Given the description of an element on the screen output the (x, y) to click on. 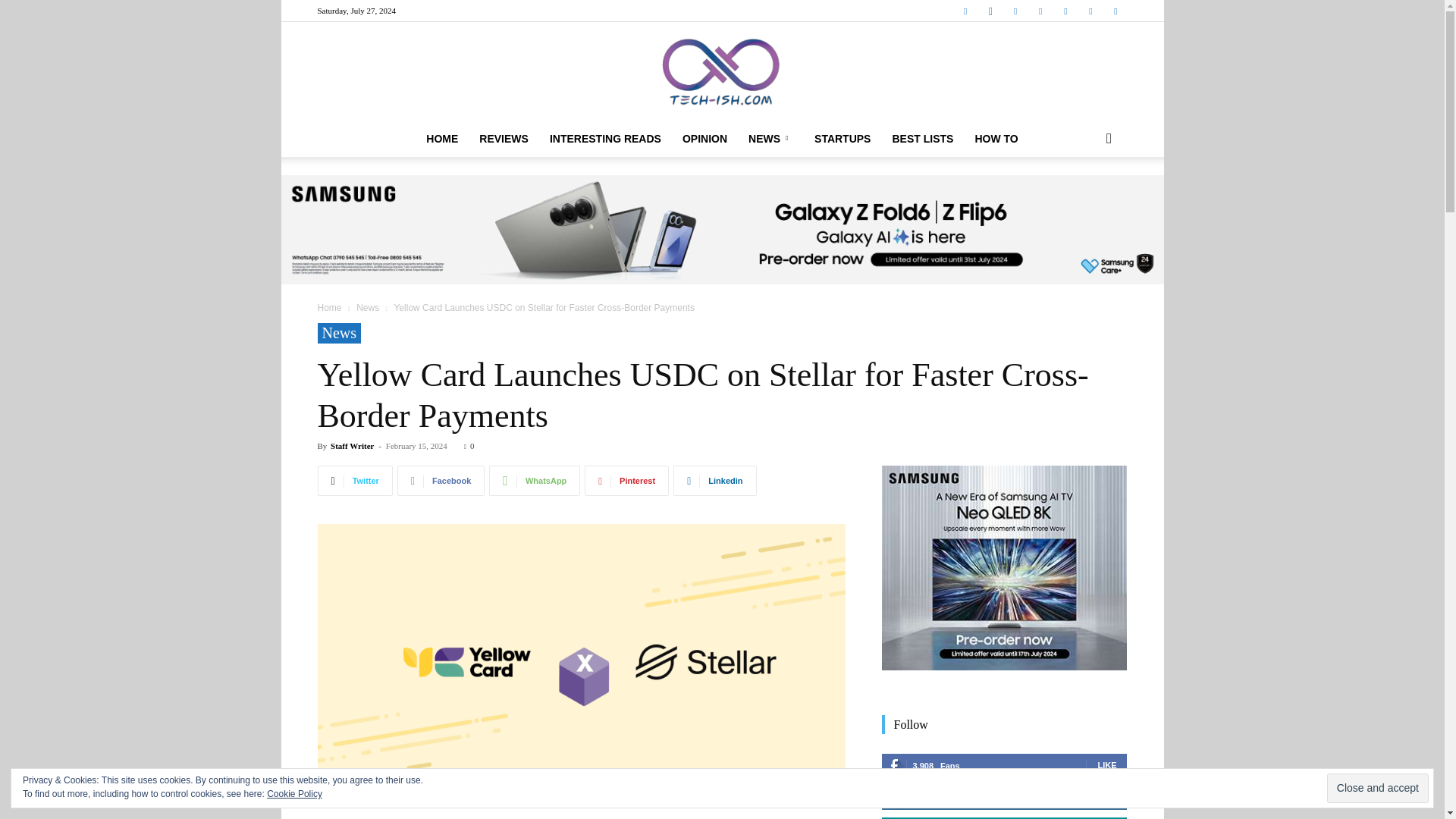
STARTUPS (841, 138)
OPINION (704, 138)
Facebook (964, 10)
BEST LISTS (921, 138)
NEWS (770, 138)
Linkedin (1015, 10)
HOME (441, 138)
TikTok (1065, 10)
Instagram (989, 10)
REVIEWS (503, 138)
